Given the description of an element on the screen output the (x, y) to click on. 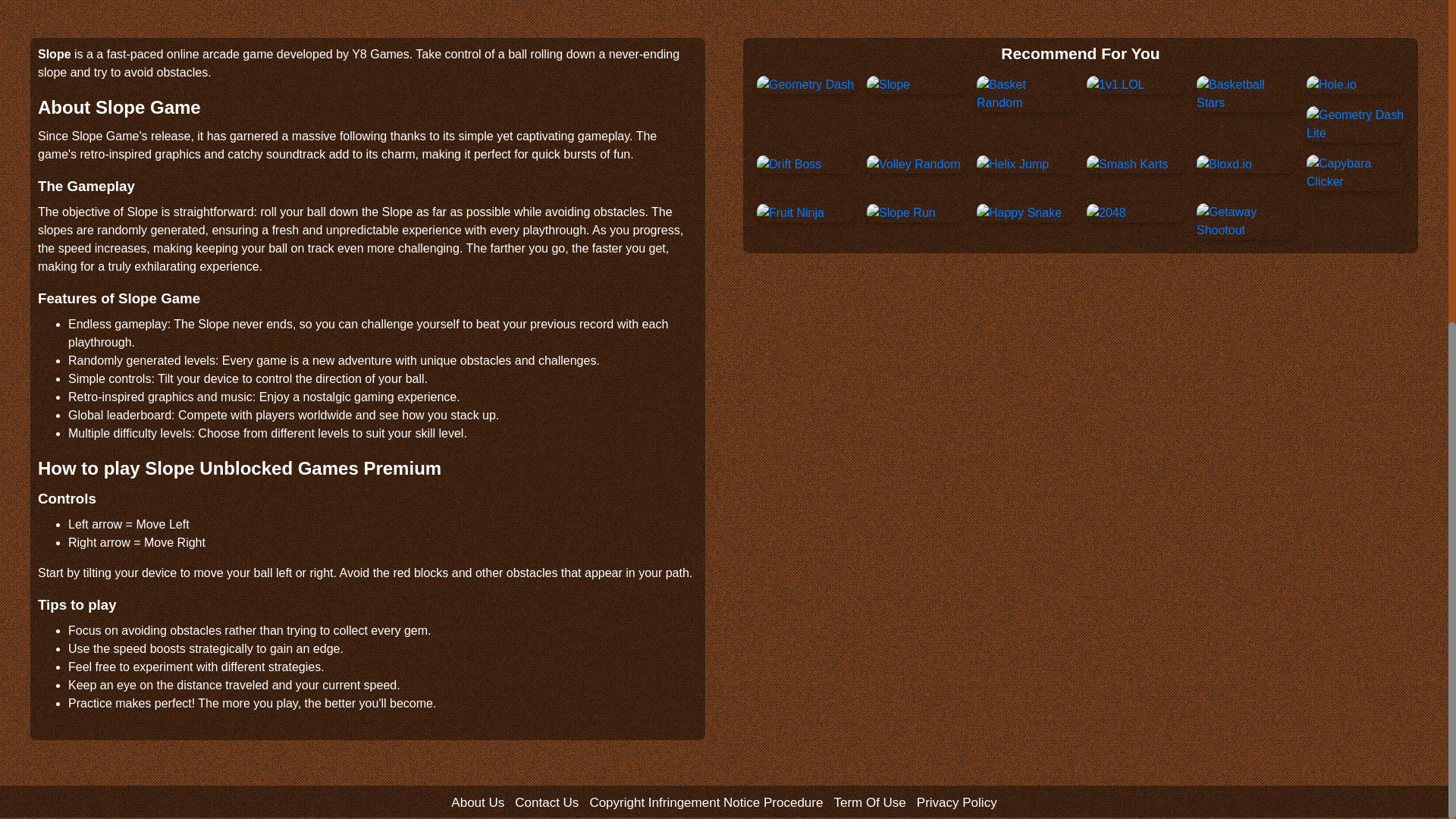
Getaway Shootout (1245, 221)
Slope (888, 85)
Basket Random (1025, 94)
Copyright Infringement Notice Procedure (706, 801)
Fruit Ninja (790, 212)
Happy Snake (1018, 212)
Volley Random (913, 164)
Drift Boss (789, 164)
1v1.LOL (1115, 85)
Geometry Dash Lite (1355, 124)
